Given the description of an element on the screen output the (x, y) to click on. 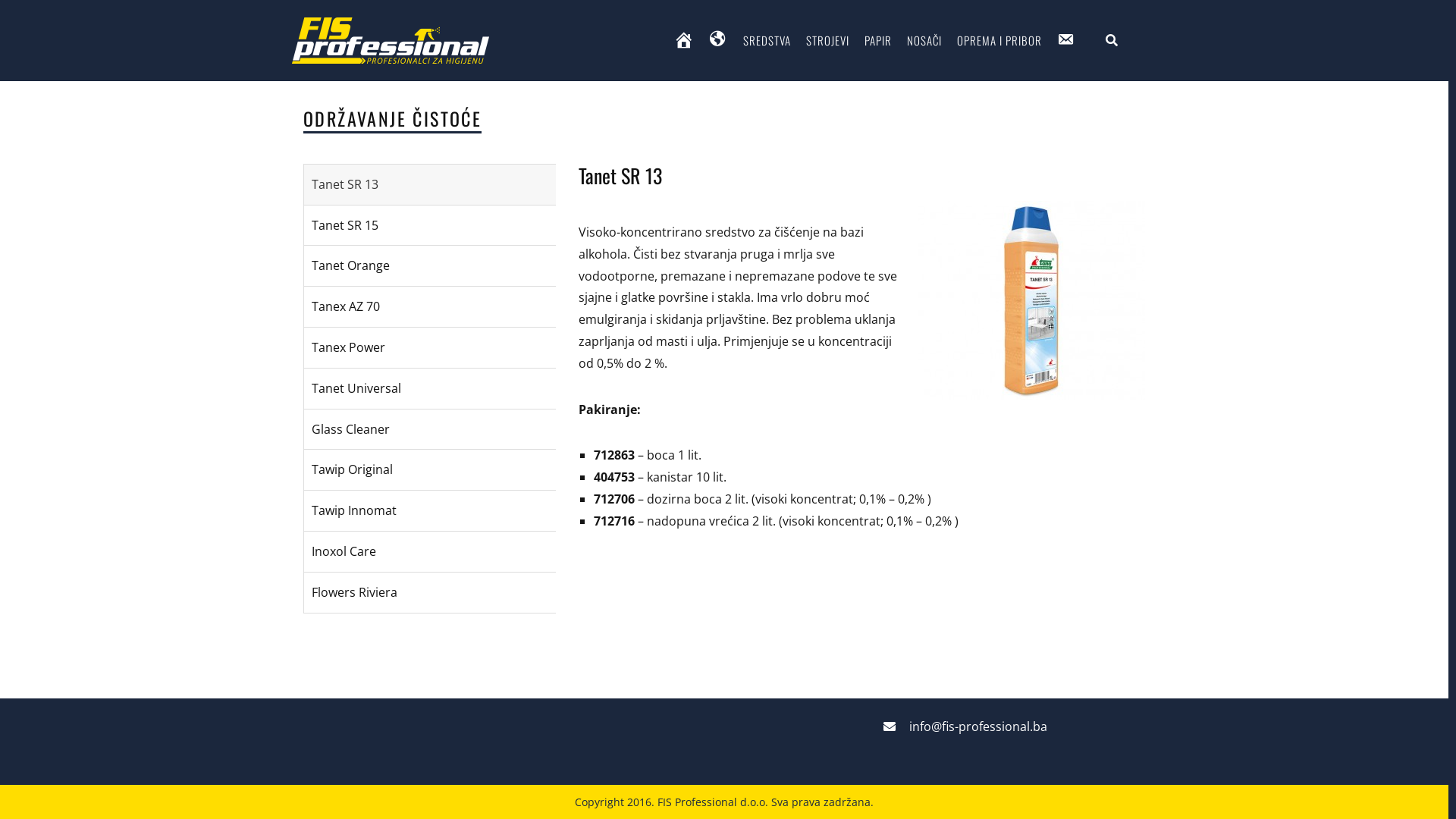
Tanex Power Element type: text (429, 347)
Tanex AZ 70 Element type: text (429, 306)
O NAMA Element type: text (718, 40)
SREDSTVA Element type: text (766, 40)
Ajsia Element type: text (618, 676)
STROJEVI Element type: text (826, 40)
OPREMA I PRIBOR Element type: text (999, 40)
KONTAKT Element type: text (1066, 40)
Tanet SR 13 Element type: text (429, 184)
Filmop Element type: text (624, 588)
Mar Plast Element type: text (632, 646)
Papernet Element type: text (768, 646)
Tawip Innomat Element type: text (429, 510)
Tawip Original Element type: text (429, 469)
PAPIR Element type: text (877, 40)
Glass Cleaner Element type: text (429, 429)
Flowers Riviera Element type: text (429, 592)
NASLOVNA Element type: text (683, 40)
Tanet SR 15 Element type: text (429, 225)
Inoxol Care Element type: text (429, 551)
Pretraga Element type: text (47, 16)
Green Care Element type: text (774, 588)
Tanet Orange Element type: text (429, 265)
Kroll Element type: text (618, 616)
Mar Plast Colored Element type: text (793, 616)
Tanet Universal Element type: text (429, 388)
